Given the description of an element on the screen output the (x, y) to click on. 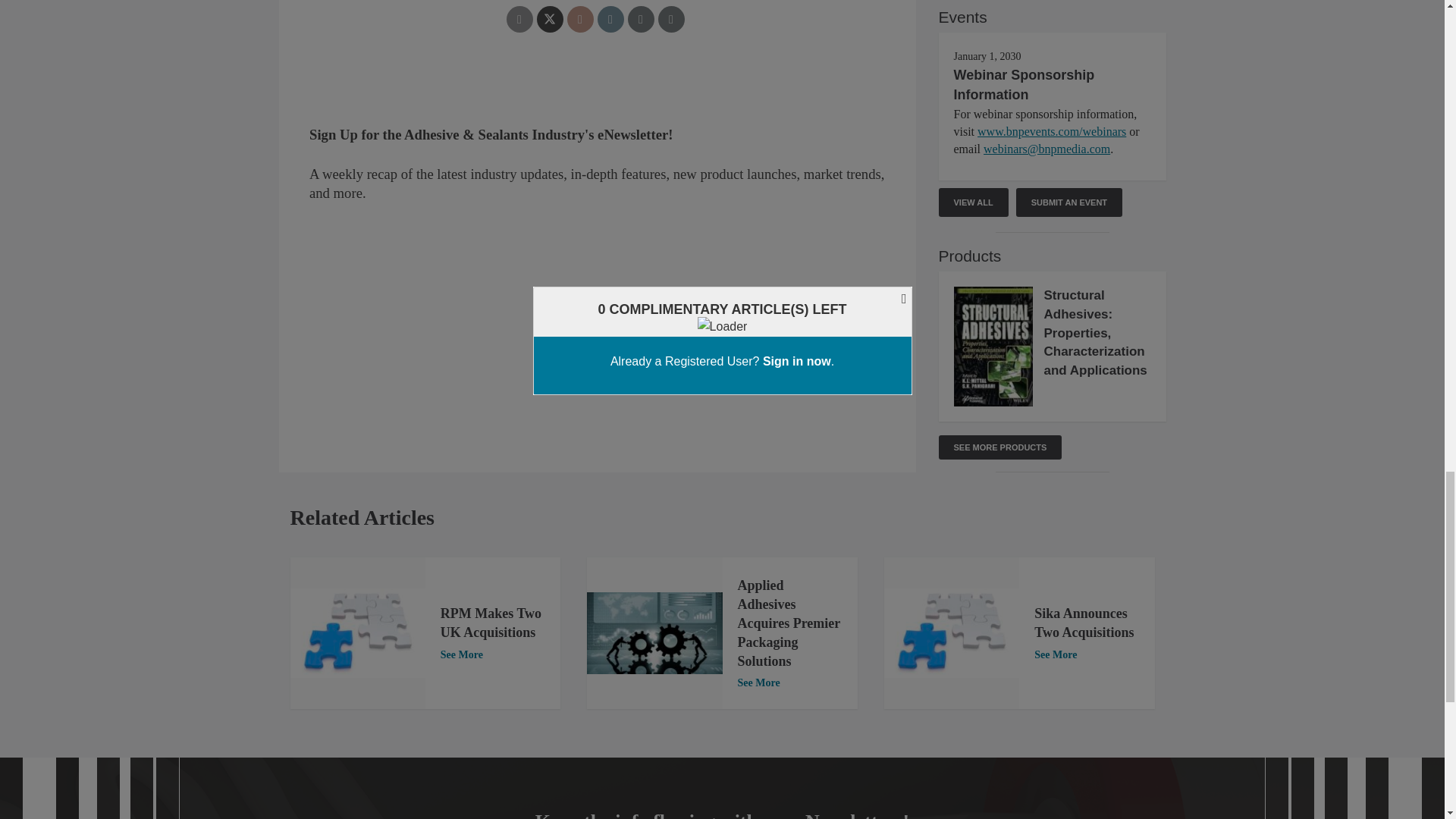
Webinar Sponsorship Information (1023, 84)
Mergers.jpg (951, 633)
Mergers.jpg (357, 633)
Interaction questions (597, 143)
